Given the description of an element on the screen output the (x, y) to click on. 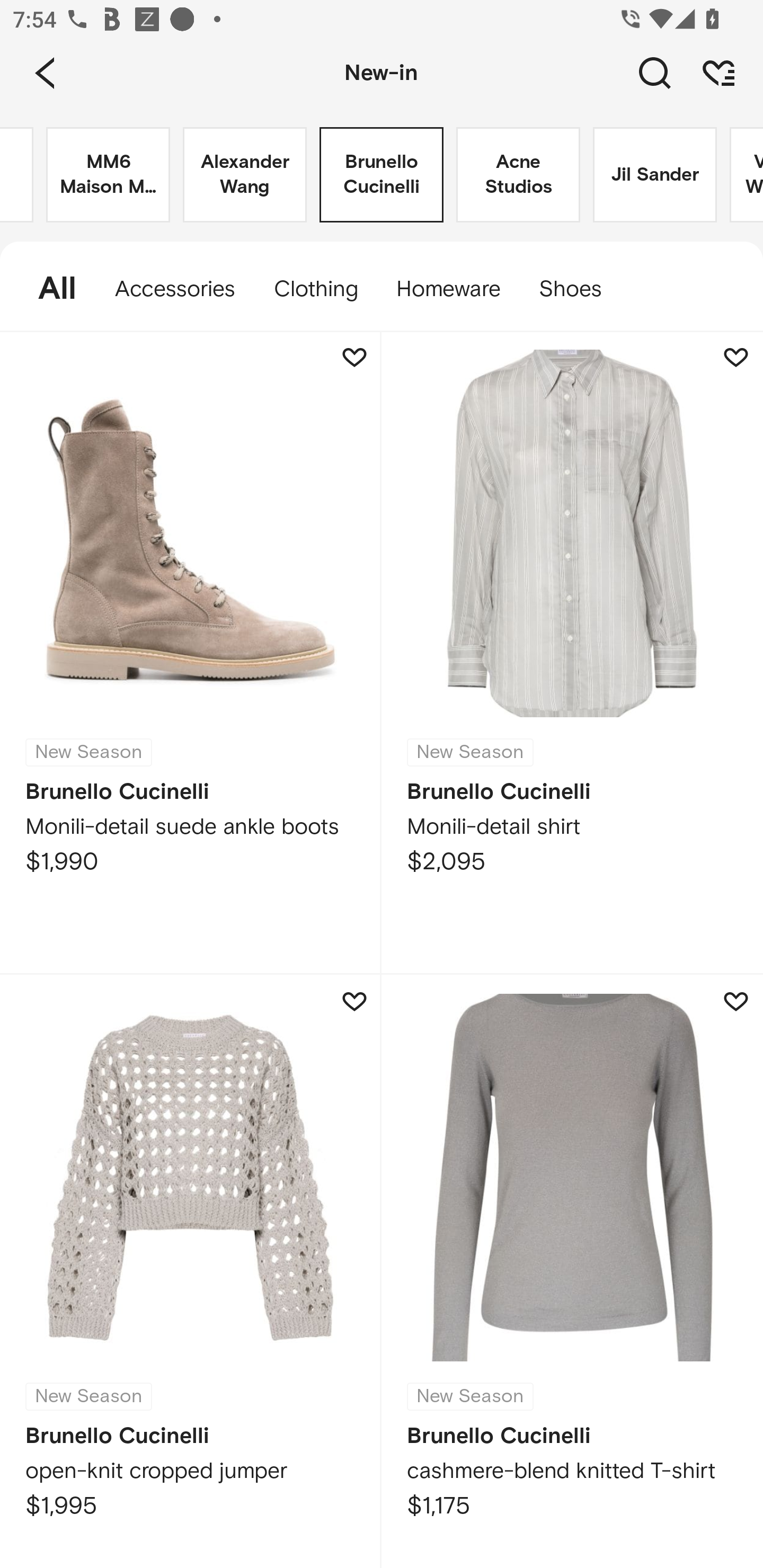
MM6 Maison Margiela (107, 174)
Alexander Wang (244, 174)
Brunello Cucinelli (381, 174)
Acne Studios (517, 174)
Jil Sander (654, 174)
All (47, 288)
Accessories (174, 288)
Clothing (315, 288)
Homeware (447, 288)
Shoes (579, 288)
